Given the description of an element on the screen output the (x, y) to click on. 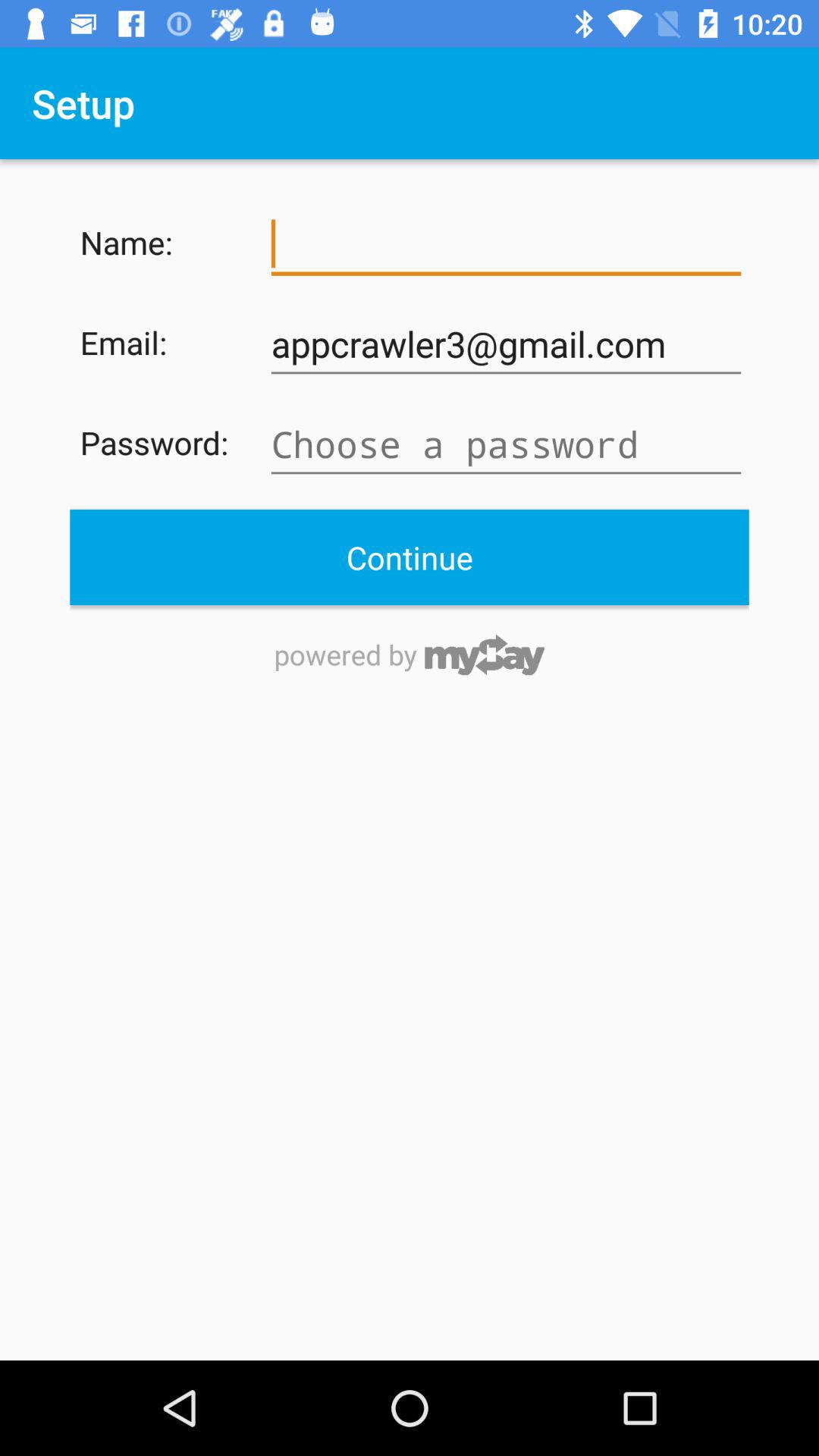
press item next to the name: icon (506, 244)
